Given the description of an element on the screen output the (x, y) to click on. 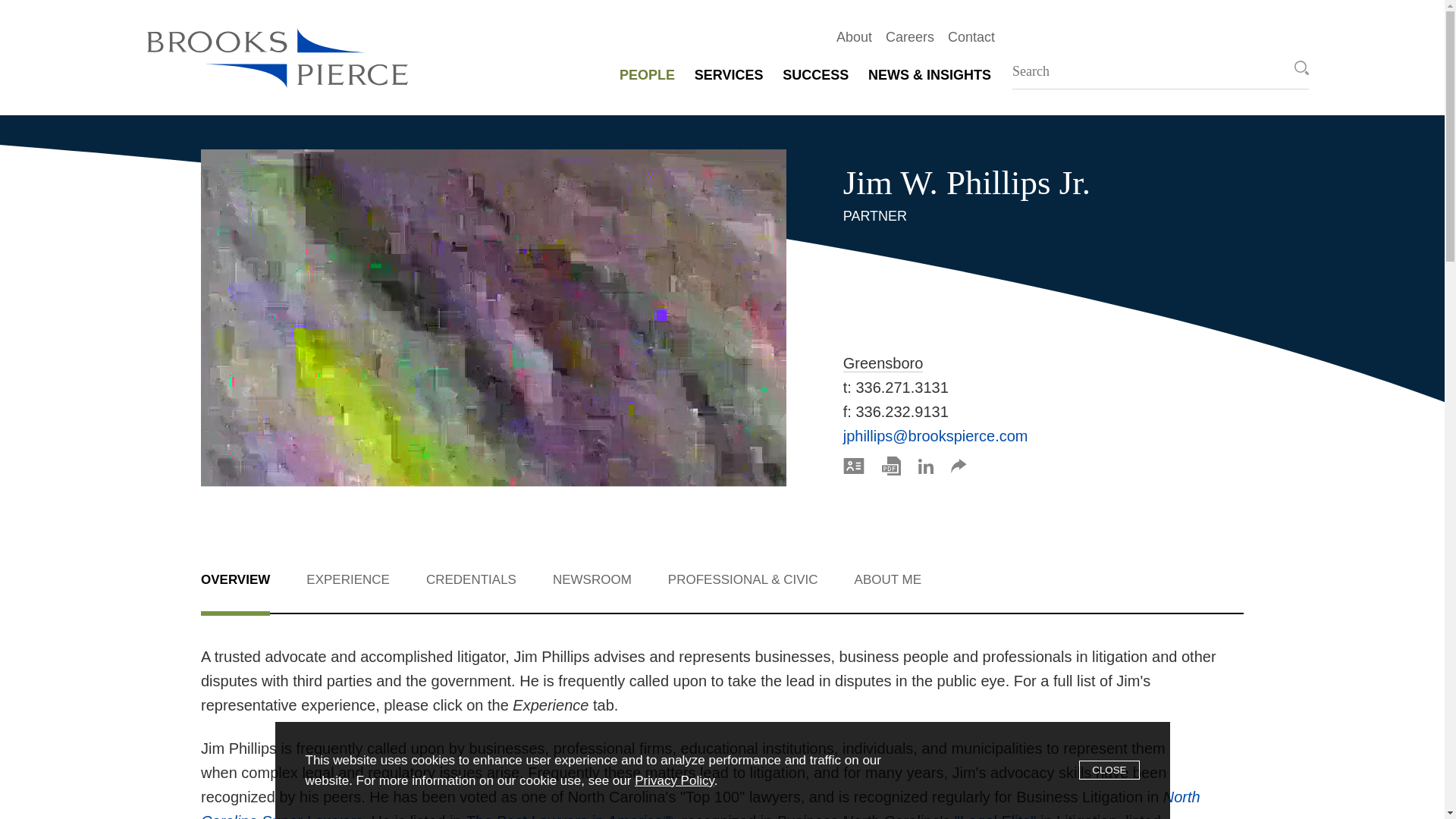
Main Menu (679, 20)
Menu (679, 20)
About (847, 37)
SUCCESS (814, 74)
Careers (903, 37)
PEOPLE (646, 74)
Main Content (671, 20)
Share (958, 465)
SERVICES (728, 74)
